Given the description of an element on the screen output the (x, y) to click on. 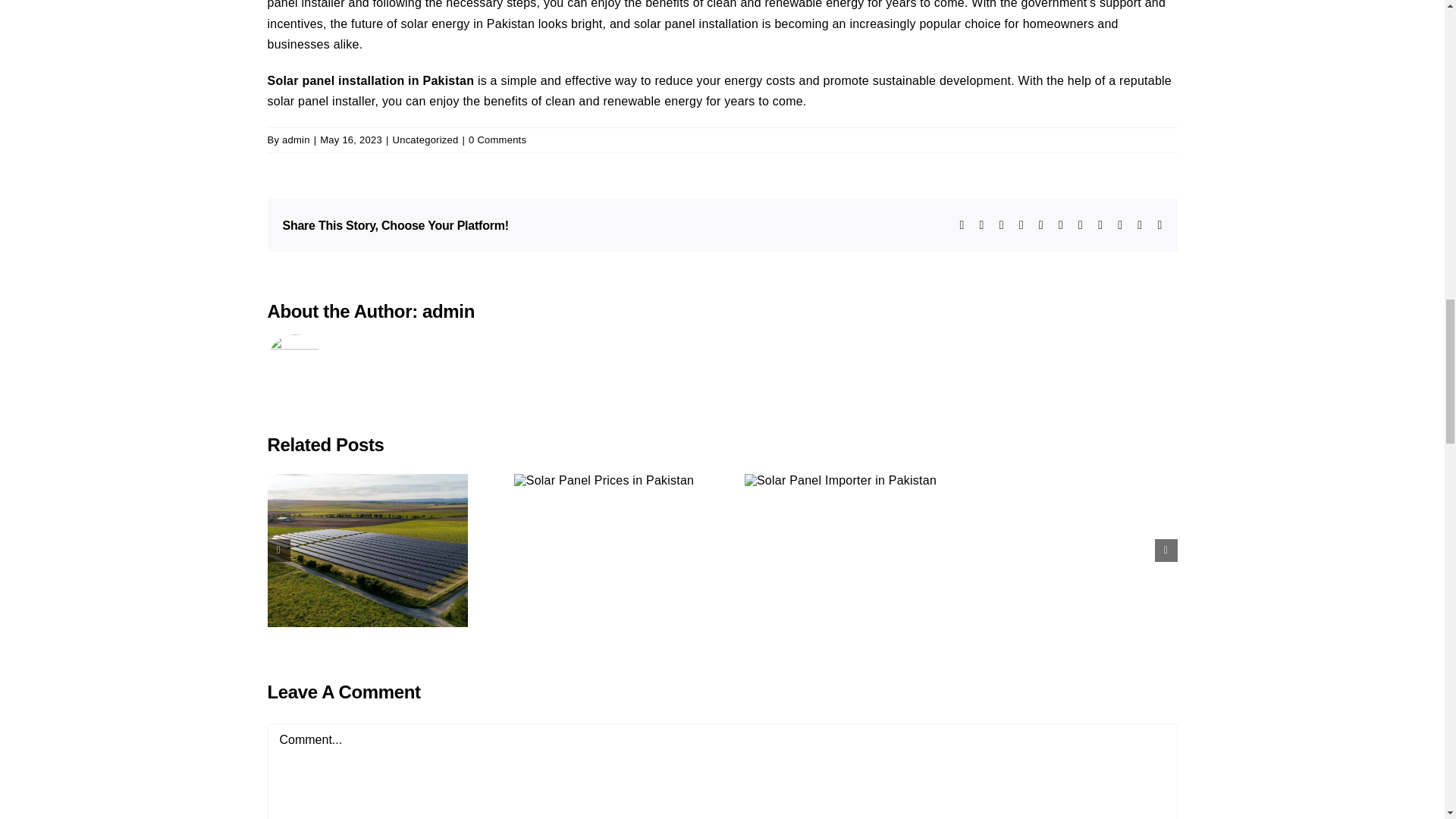
Uncategorized (425, 139)
Posts by admin (296, 139)
0 Comments (496, 139)
admin (296, 139)
Solar panel installation in Pakistan (370, 80)
